Given the description of an element on the screen output the (x, y) to click on. 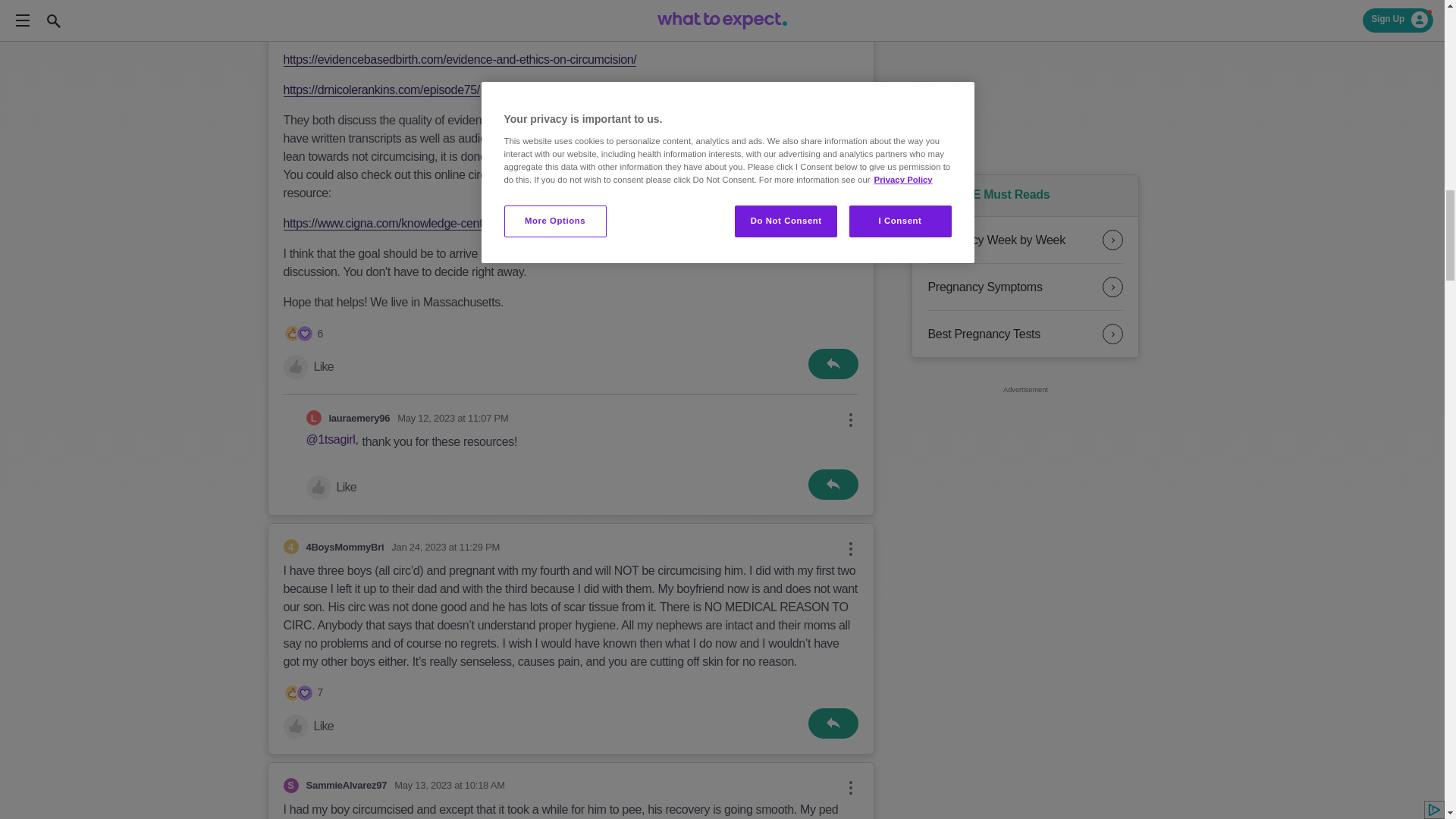
Pregnancy Week by Week (1024, 240)
Pregnancy Symptoms (1024, 287)
Best Pregnancy Tests (1024, 334)
